Given the description of an element on the screen output the (x, y) to click on. 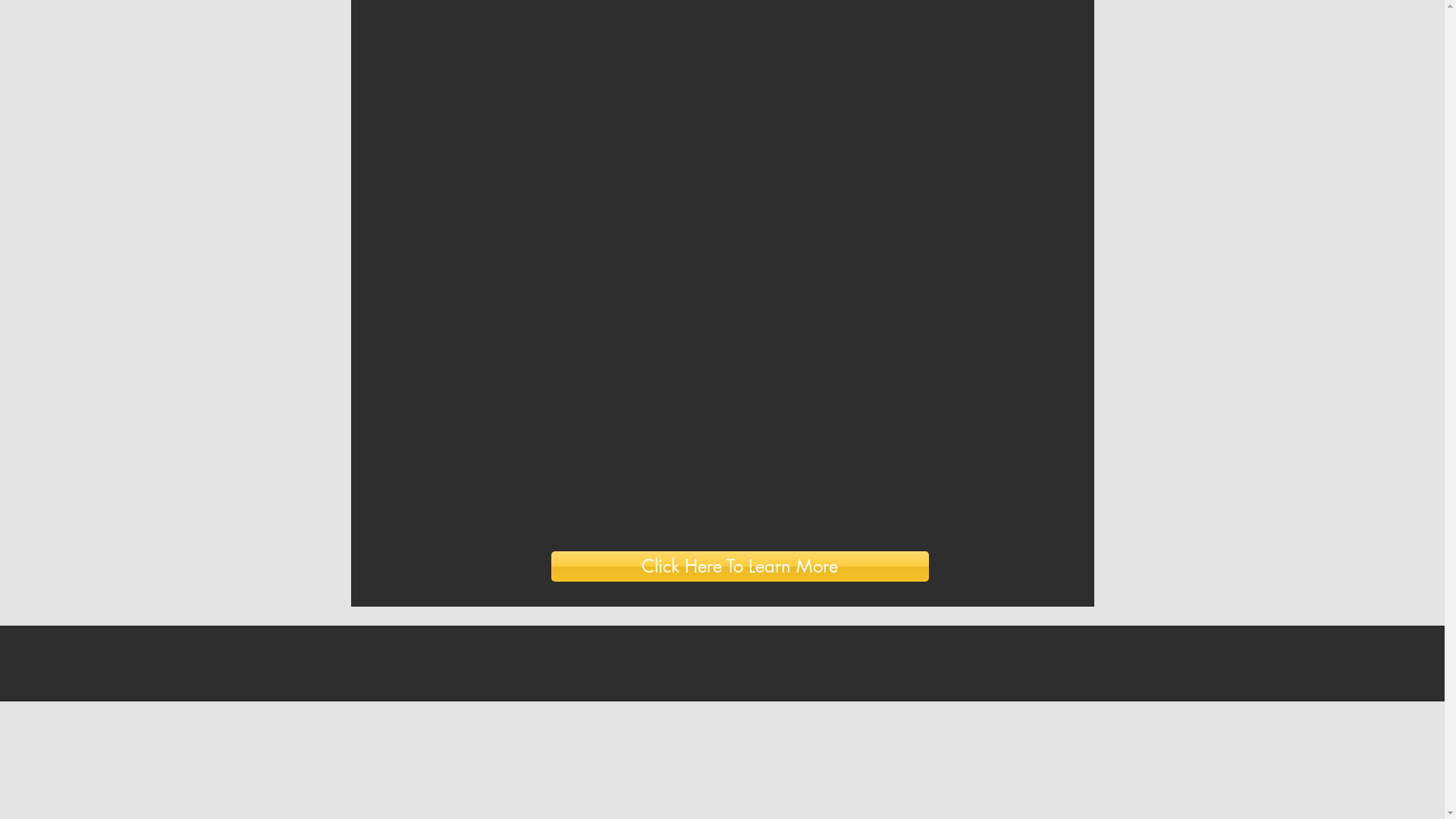
Click Here To Learn More Element type: text (739, 566)
